Given the description of an element on the screen output the (x, y) to click on. 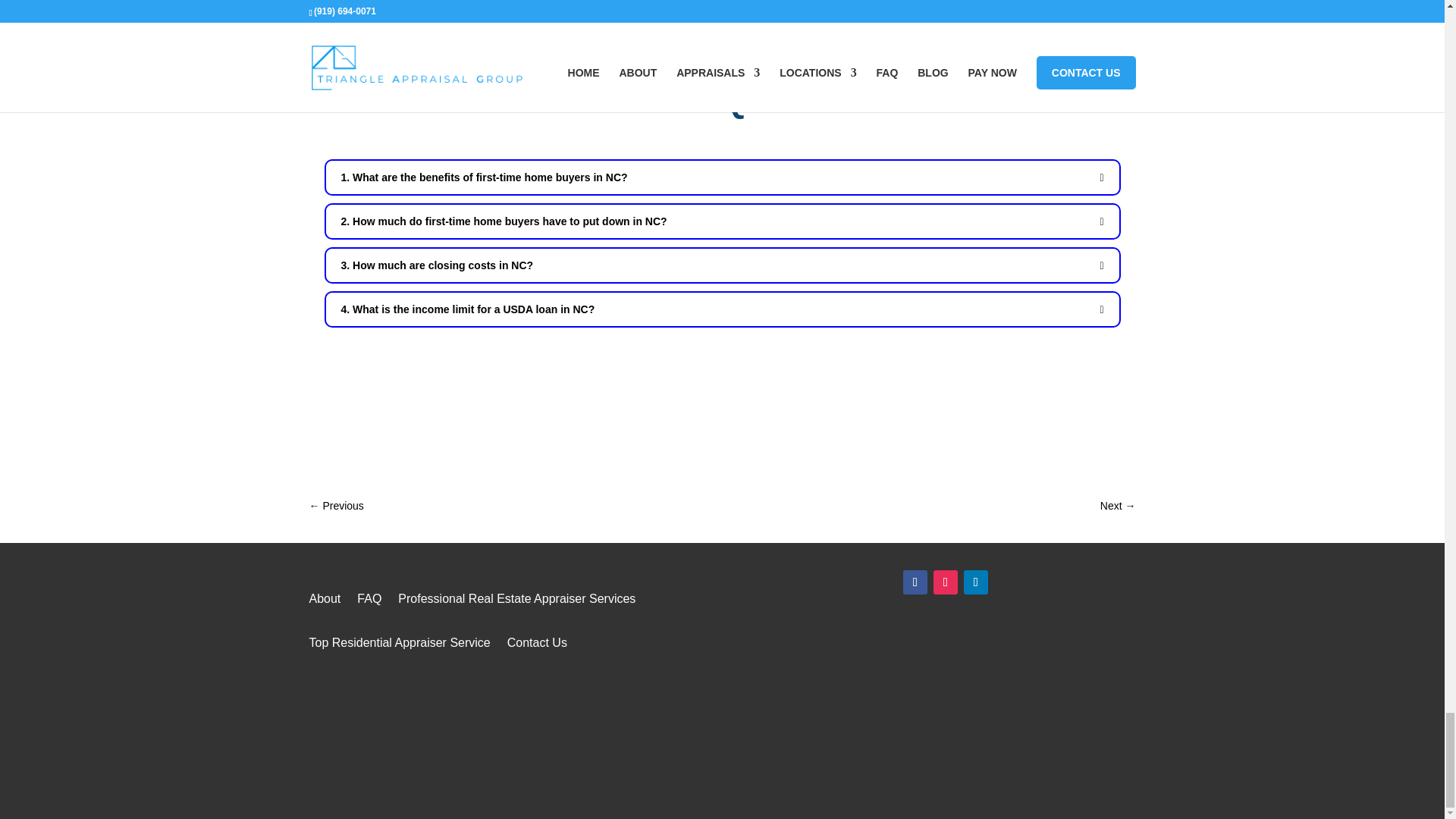
Follow on LinkedIn (975, 582)
DMCA.com Protection Status (945, 748)
Follow on Facebook (914, 582)
Follow on Instagram (945, 582)
